Given the description of an element on the screen output the (x, y) to click on. 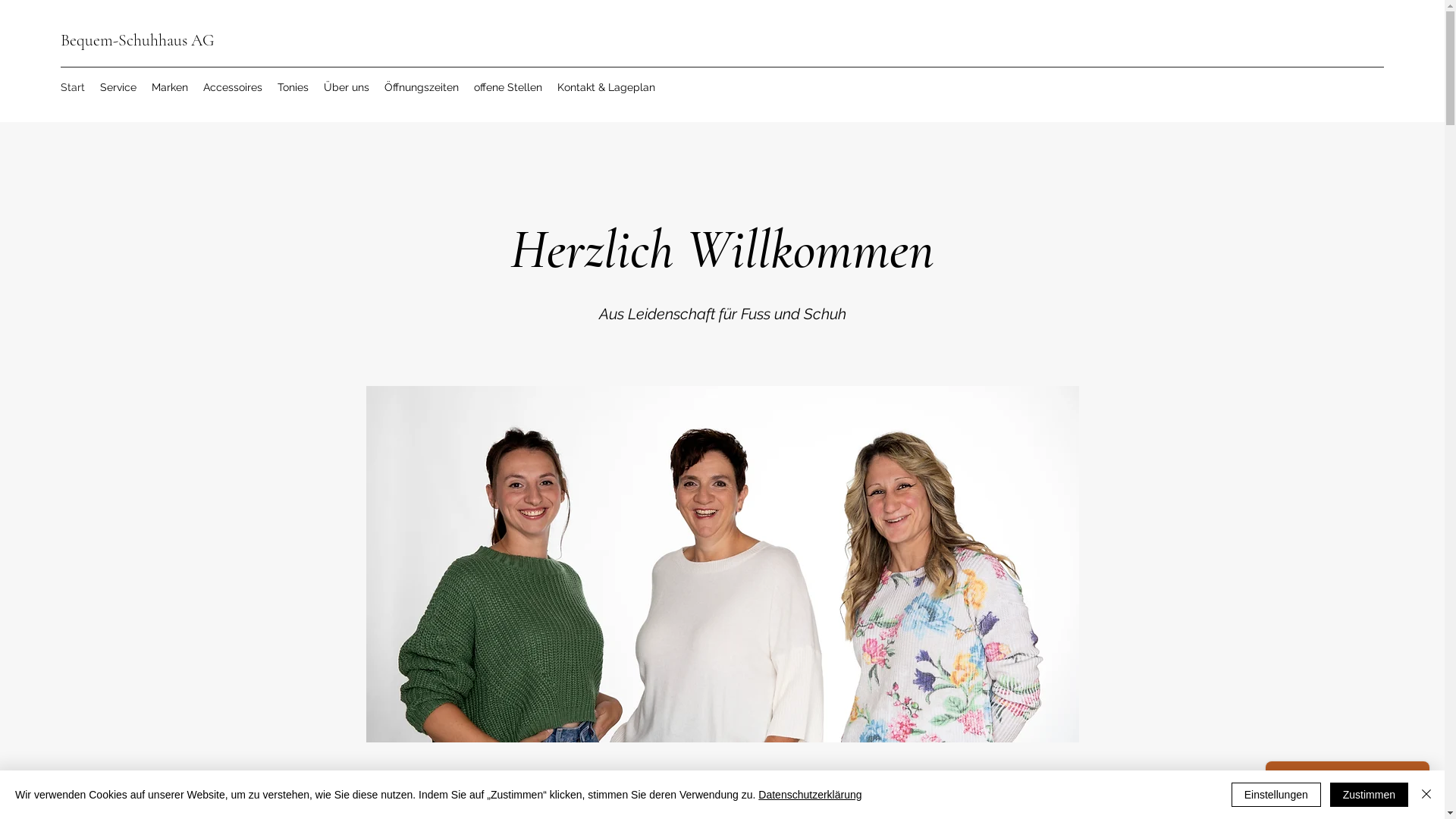
Start Element type: text (72, 87)
Marken Element type: text (169, 87)
Bequem-Schuhhaus AG Element type: text (137, 40)
Service Element type: text (118, 87)
Accessoires Element type: text (232, 87)
Zustimmen Element type: text (1369, 794)
offene Stellen Element type: text (507, 87)
Tonies Element type: text (292, 87)
Kontakt & Lageplan Element type: text (605, 87)
Einstellungen Element type: text (1276, 794)
